Given the description of an element on the screen output the (x, y) to click on. 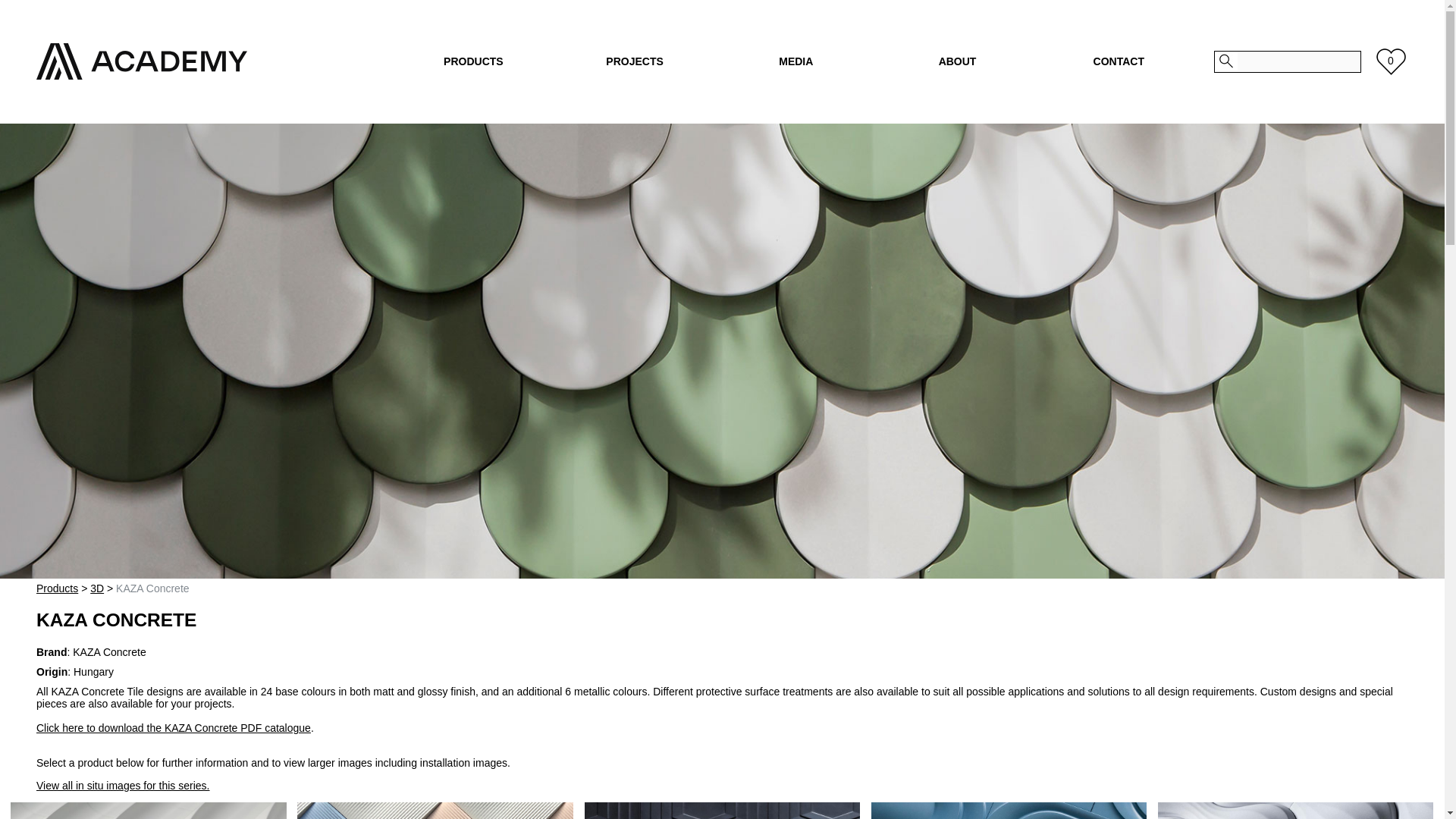
CONTACT (1118, 61)
PROJECTS (635, 61)
ABOUT (957, 61)
MEDIA (795, 61)
PRODUCTS (473, 61)
